Given the description of an element on the screen output the (x, y) to click on. 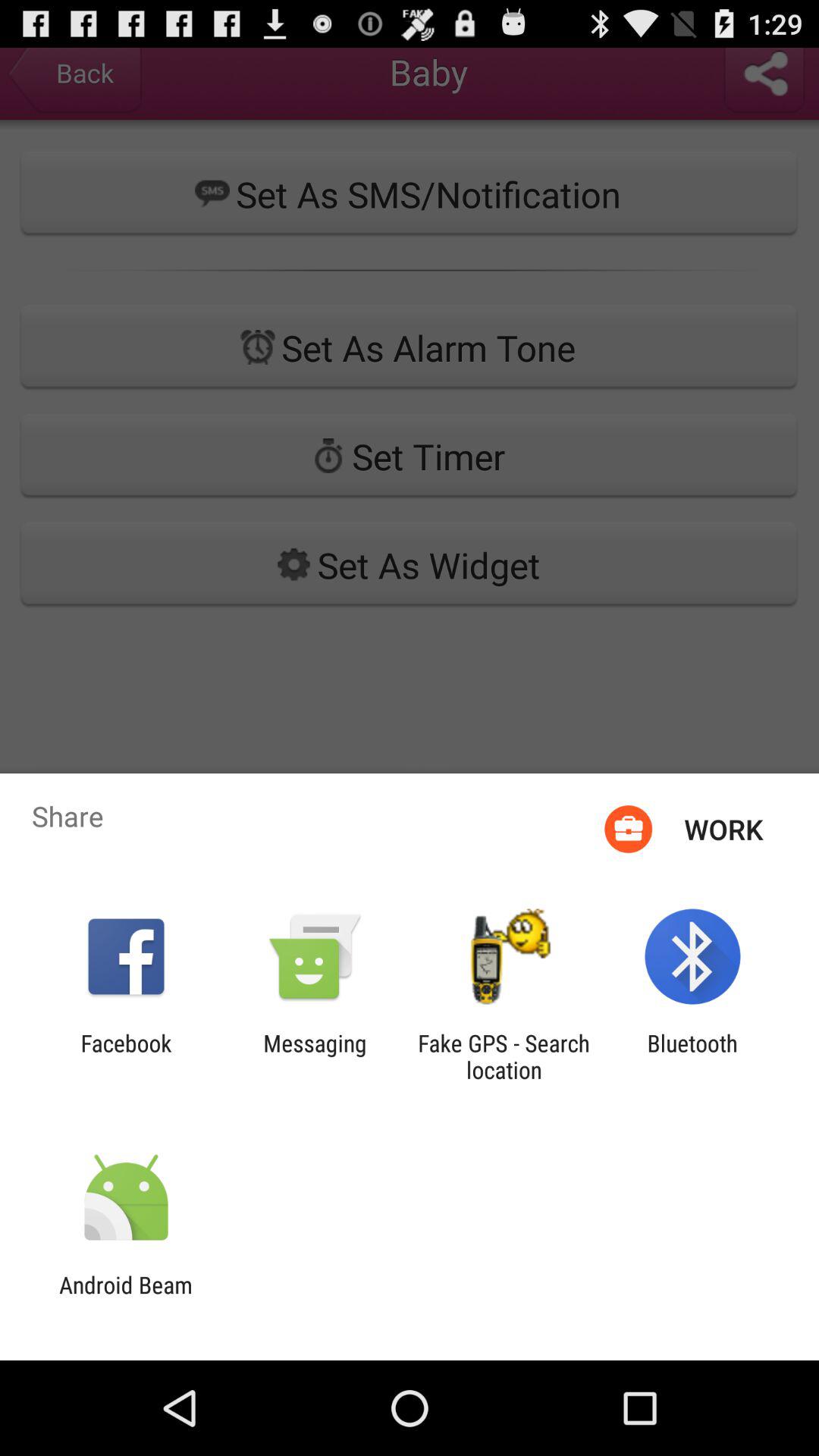
turn off facebook item (125, 1056)
